Given the description of an element on the screen output the (x, y) to click on. 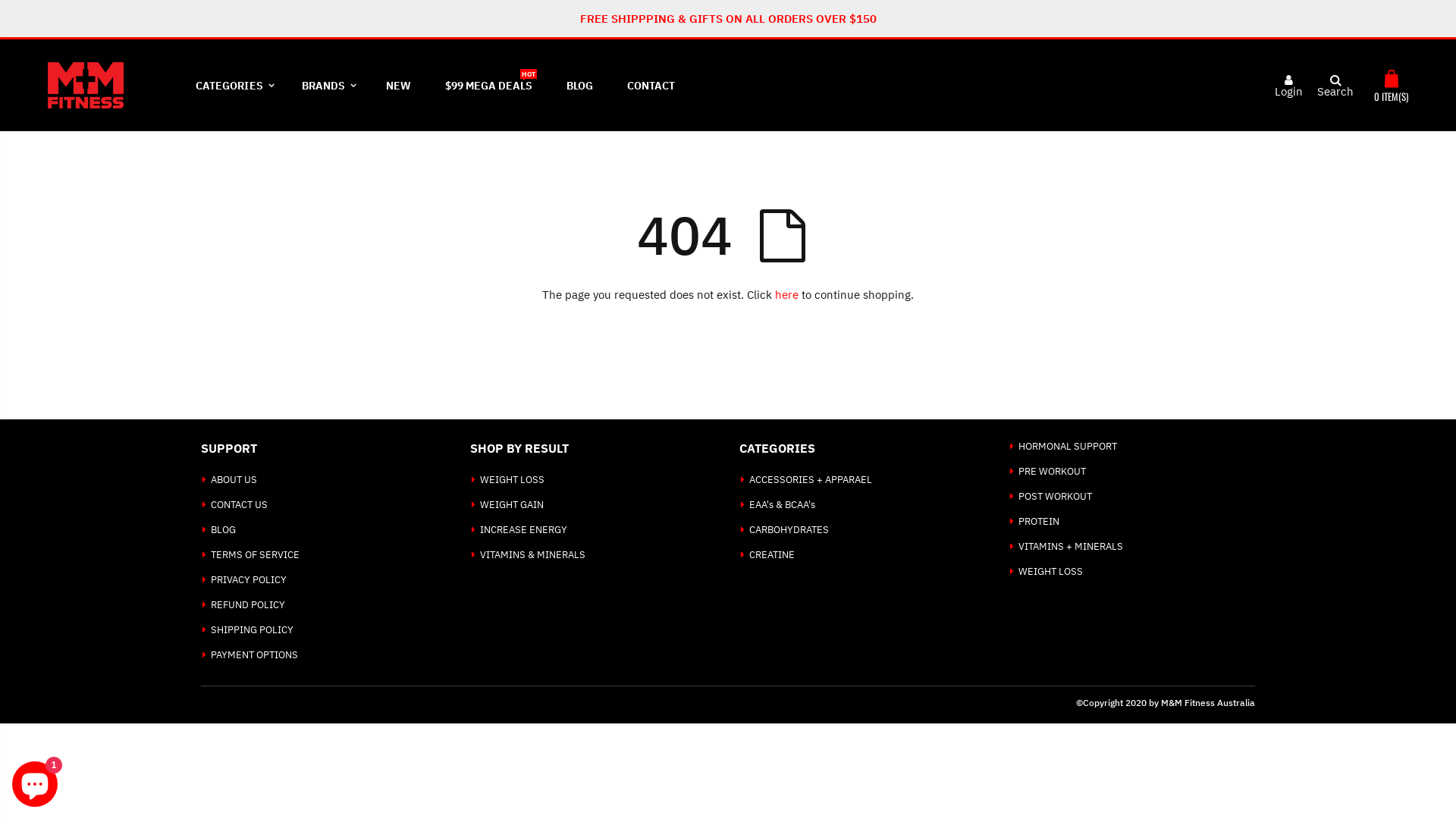
REFUND POLICY Element type: text (247, 604)
WEIGHT LOSS Element type: text (1050, 570)
CREATINE Element type: text (771, 554)
PRE WORKOUT Element type: text (1051, 470)
BLOG Element type: text (579, 84)
PRIVACY POLICY Element type: text (248, 579)
0ITEM(S) Element type: text (1391, 85)
here Element type: text (786, 293)
NEW Element type: text (398, 84)
VITAMINS & MINERALS Element type: text (532, 554)
WEIGHT GAIN Element type: text (511, 504)
ACCESSORIES + APPARAEL Element type: text (810, 479)
$99 MEGA DEALS
HOT Element type: text (488, 84)
CONTACT Element type: text (651, 84)
Search Element type: text (1326, 85)
BLOG Element type: text (222, 529)
SHIPPING POLICY Element type: text (251, 629)
CATEGORIES Element type: text (232, 84)
EAA's & BCAA's Element type: text (782, 504)
Login Element type: text (1288, 90)
TERMS OF SERVICE Element type: text (254, 554)
Shopify online store chat Element type: hover (34, 780)
CONTACT US Element type: text (238, 504)
POST WORKOUT Element type: text (1055, 495)
PAYMENT OPTIONS Element type: text (254, 654)
INCREASE ENERGY Element type: text (523, 529)
WEIGHT LOSS Element type: text (512, 479)
ABOUT US Element type: text (233, 479)
BRANDS Element type: text (326, 84)
HORMONAL SUPPORT Element type: text (1067, 445)
VITAMINS + MINERALS Element type: text (1070, 545)
PROTEIN Element type: text (1038, 520)
CARBOHYDRATES Element type: text (788, 529)
